Given the description of an element on the screen output the (x, y) to click on. 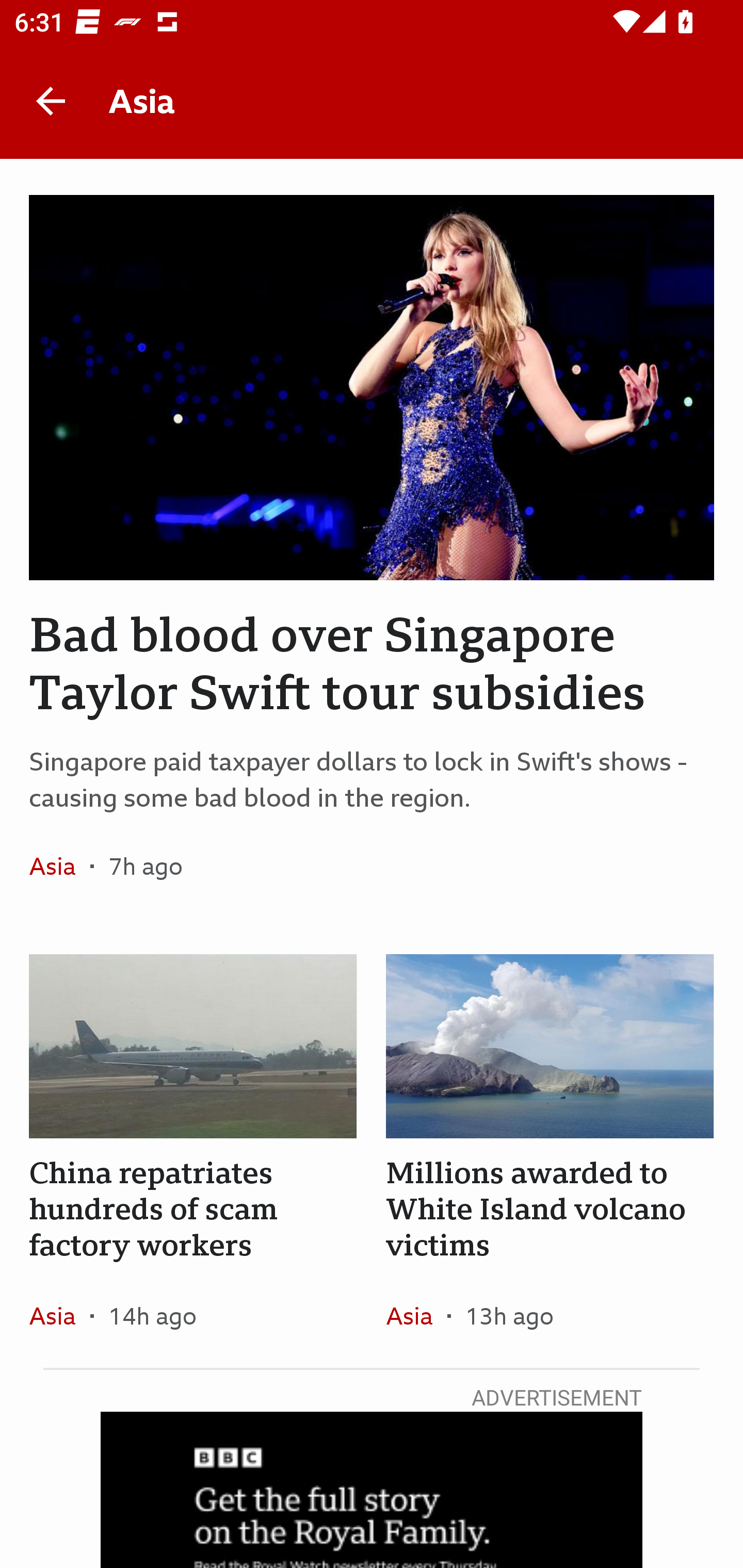
Back (50, 101)
Asia In the section Asia (59, 865)
Asia In the section Asia (59, 1315)
Asia In the section Asia (416, 1315)
